Given the description of an element on the screen output the (x, y) to click on. 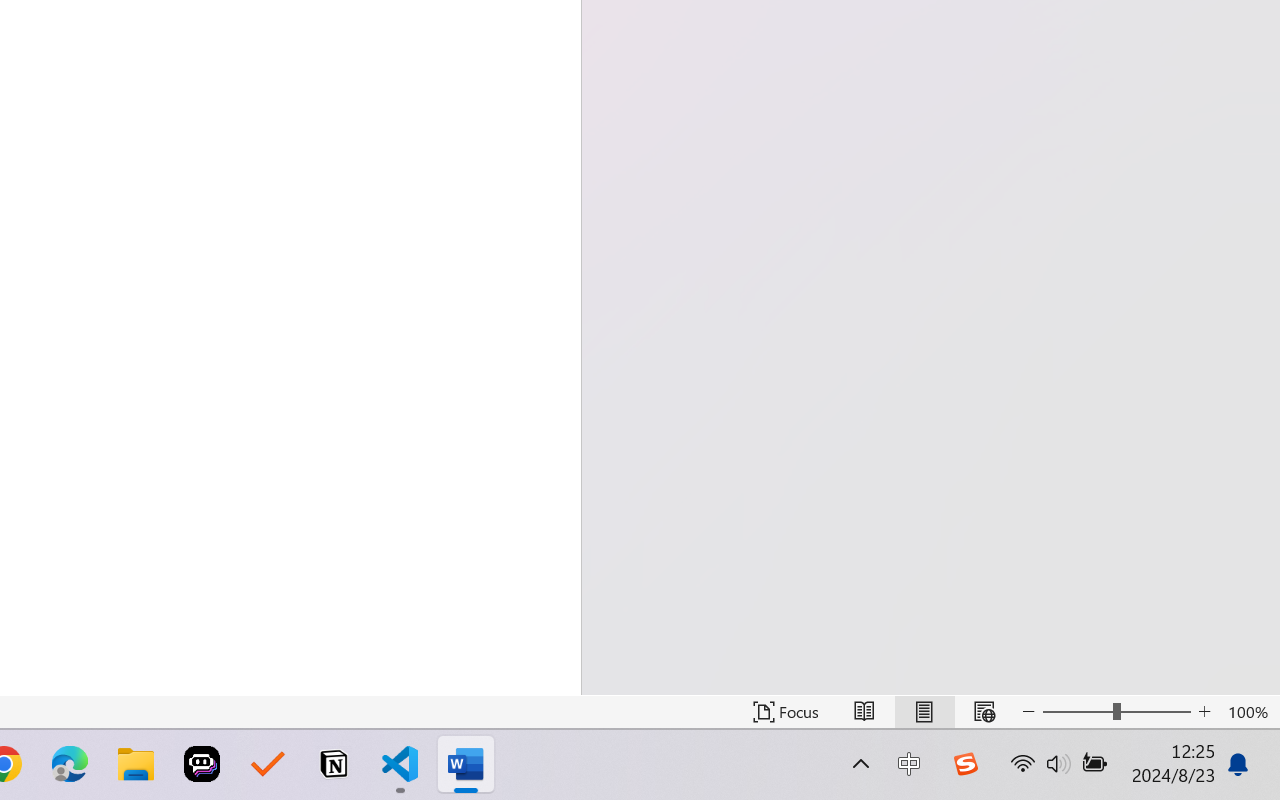
Zoom 100% (1249, 712)
